Given the description of an element on the screen output the (x, y) to click on. 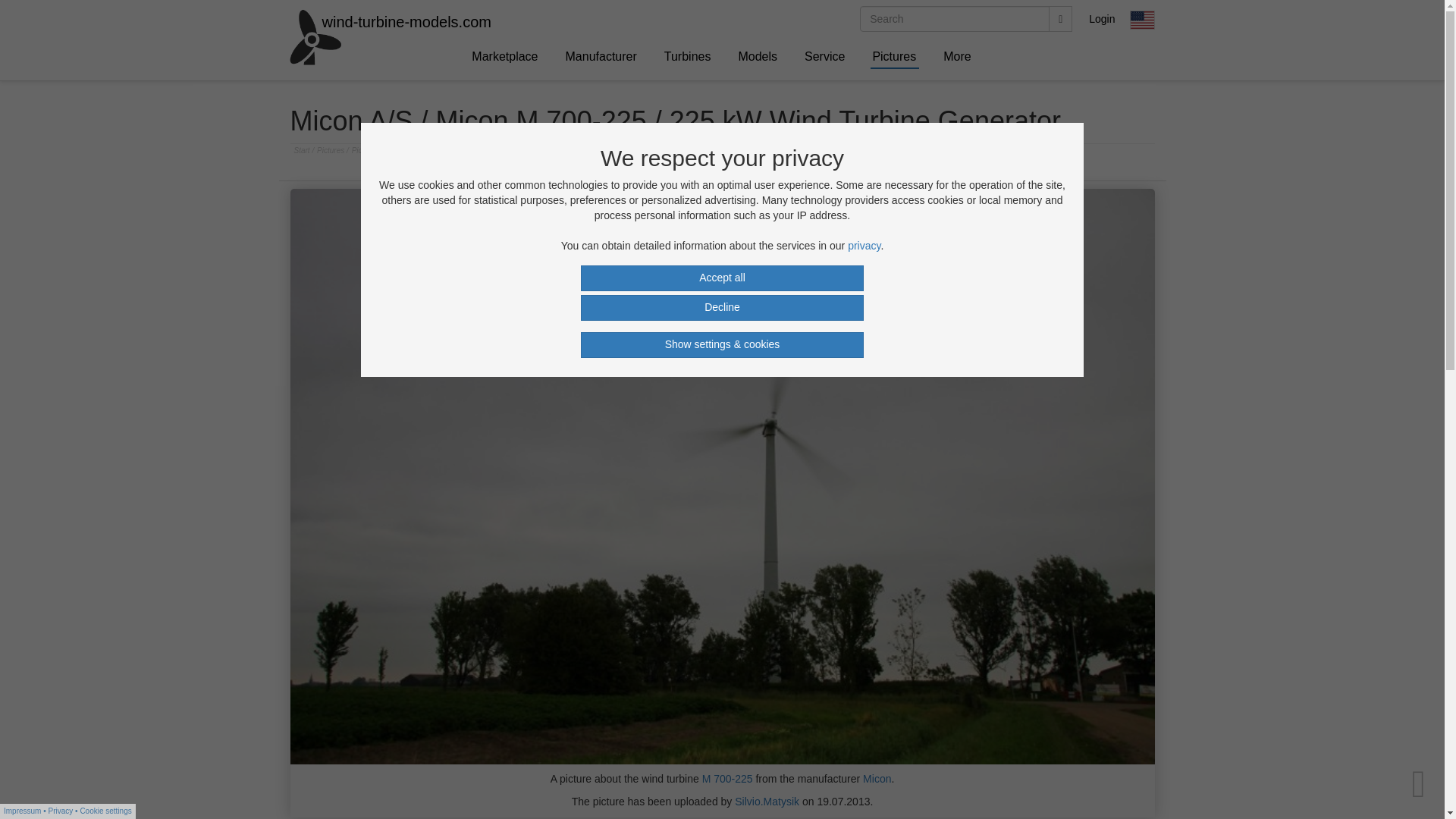
Turbines (687, 56)
Models (758, 56)
Pictures (894, 56)
Marketplace (504, 56)
Manufacturer (601, 56)
Start (303, 150)
Silvio.Matysik (767, 801)
M 700-225 (726, 778)
wind-turbine-models.com (304, 18)
Login (1102, 18)
Service (825, 56)
Micon (877, 778)
More (957, 56)
Pictures (331, 150)
